Given the description of an element on the screen output the (x, y) to click on. 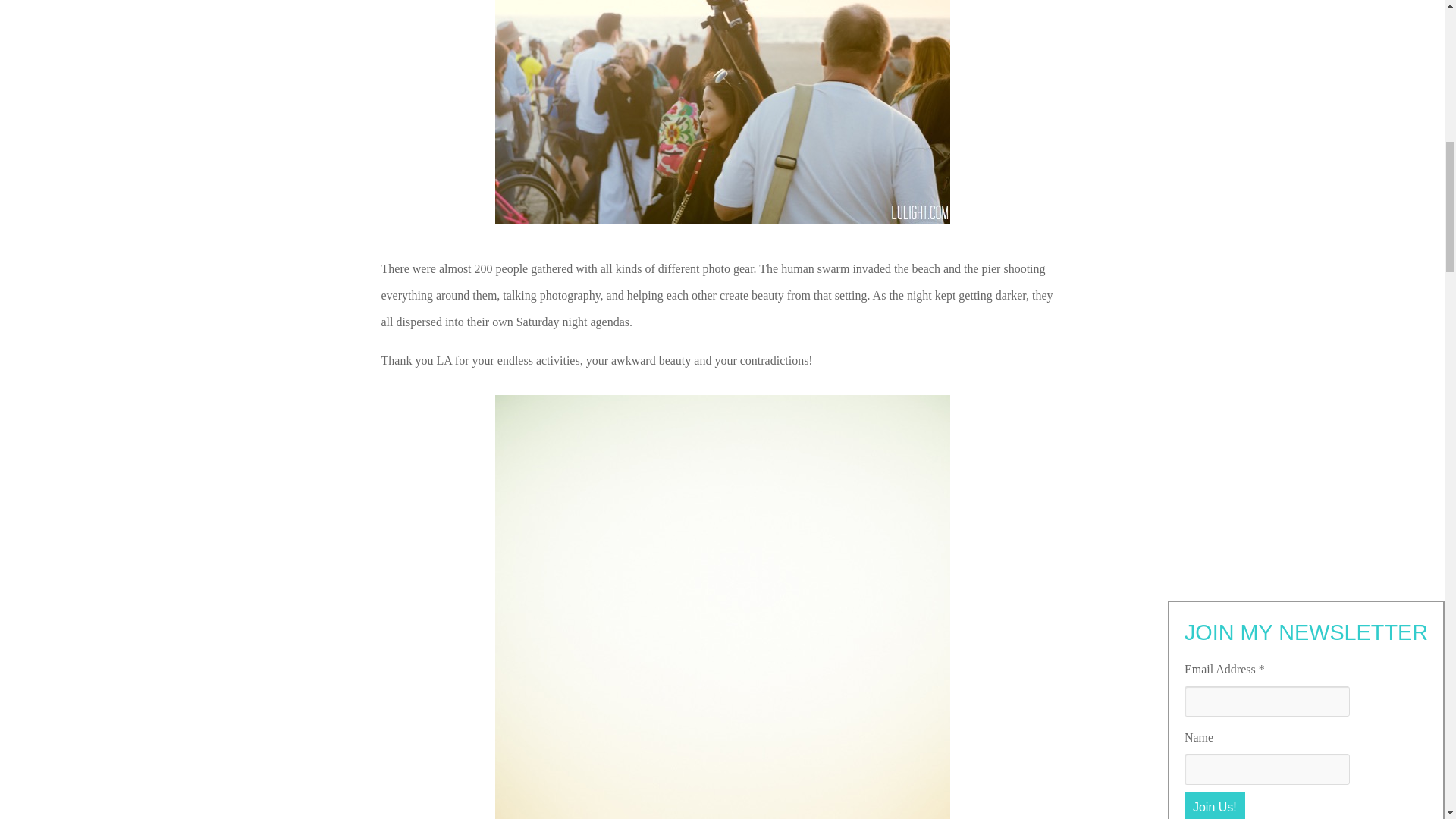
Join Us! (1214, 2)
Join Us! (1214, 2)
